Given the description of an element on the screen output the (x, y) to click on. 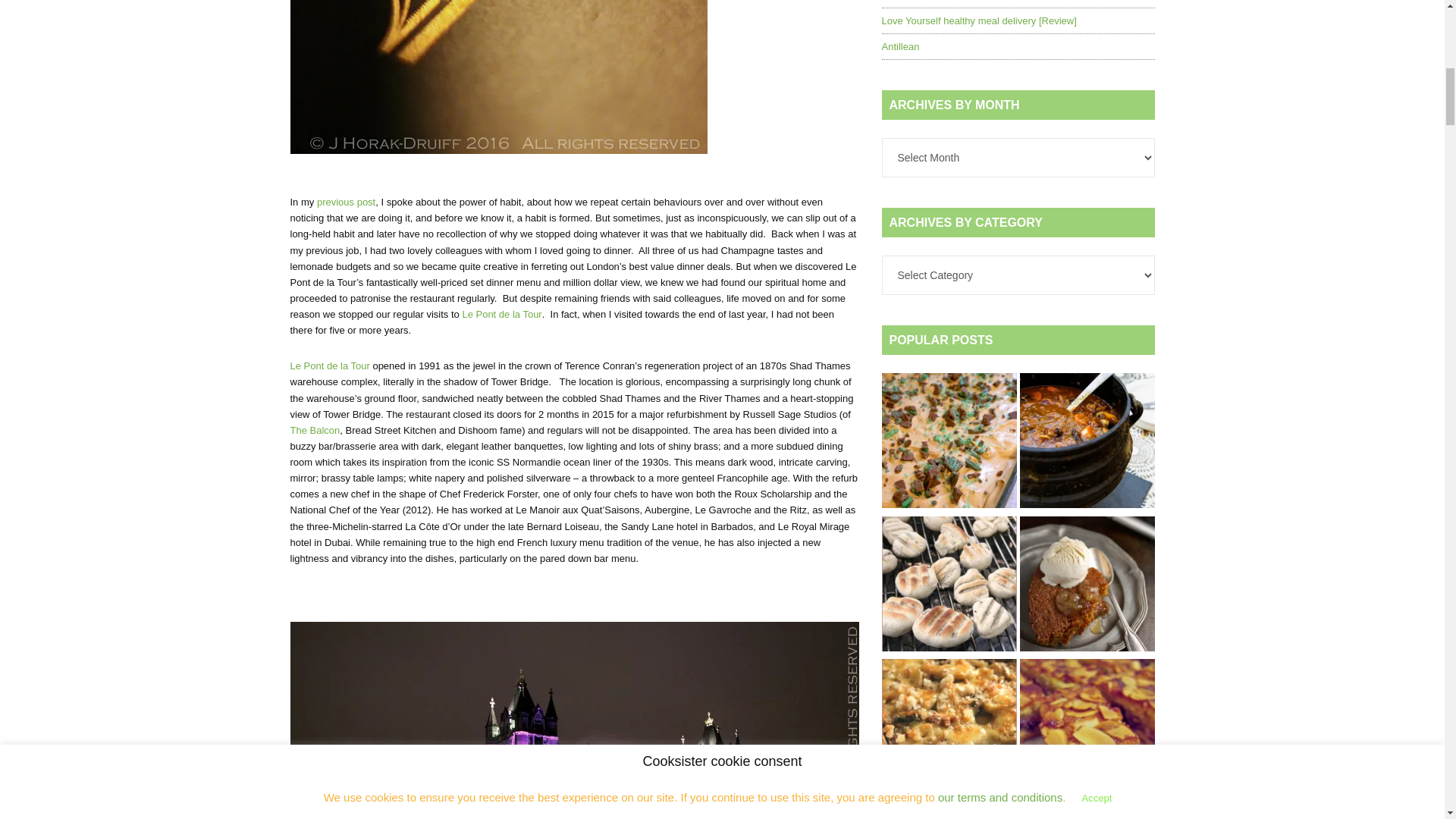
My big, fat South African potato bake (948, 728)
Oxtail and red wine potjie (1086, 442)
Peppermint Crisp fridge tart - a South African treat (948, 442)
Roosterkoek - a South African braai essential (948, 585)
